Given the description of an element on the screen output the (x, y) to click on. 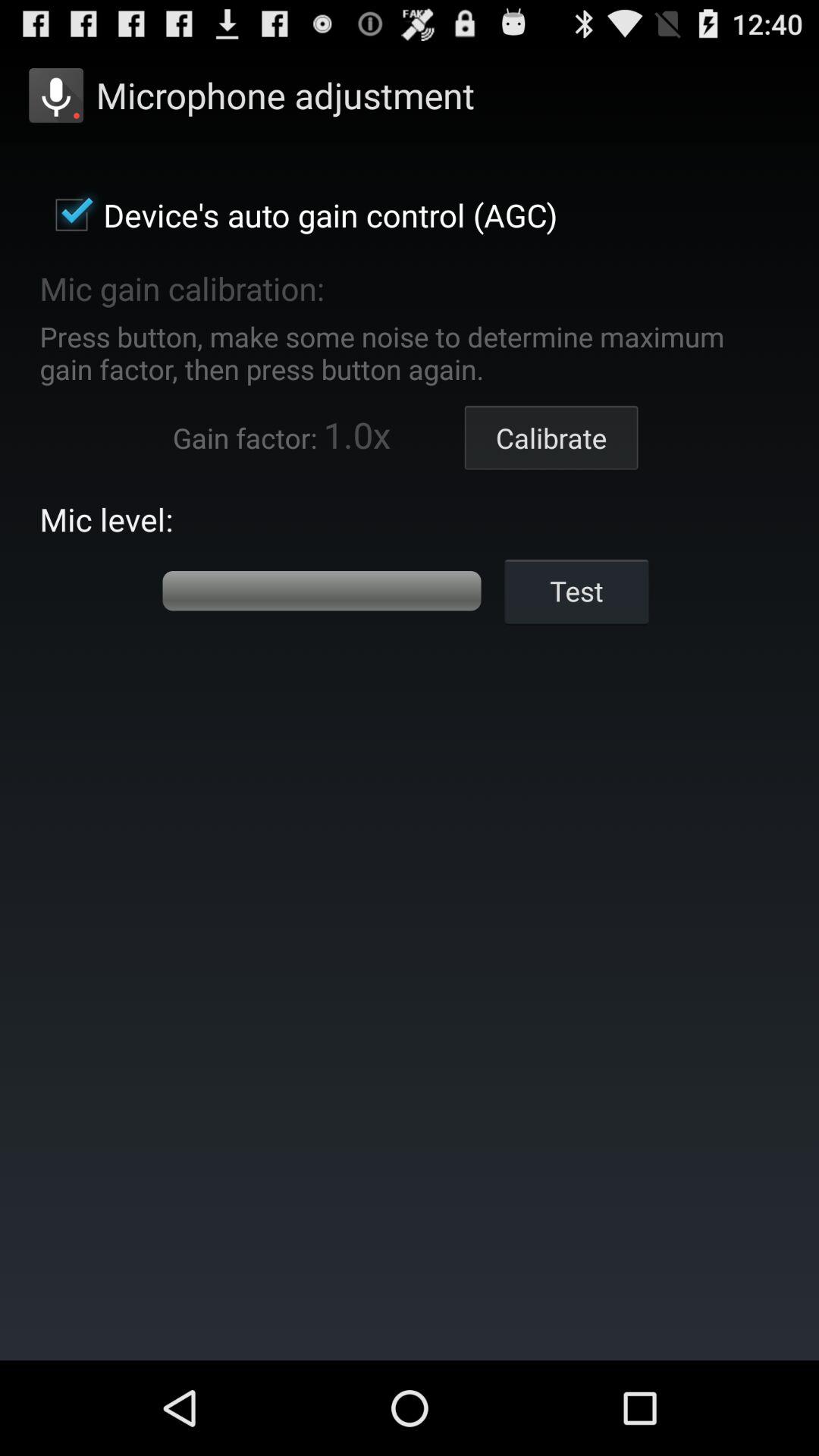
swipe to the test icon (576, 590)
